Given the description of an element on the screen output the (x, y) to click on. 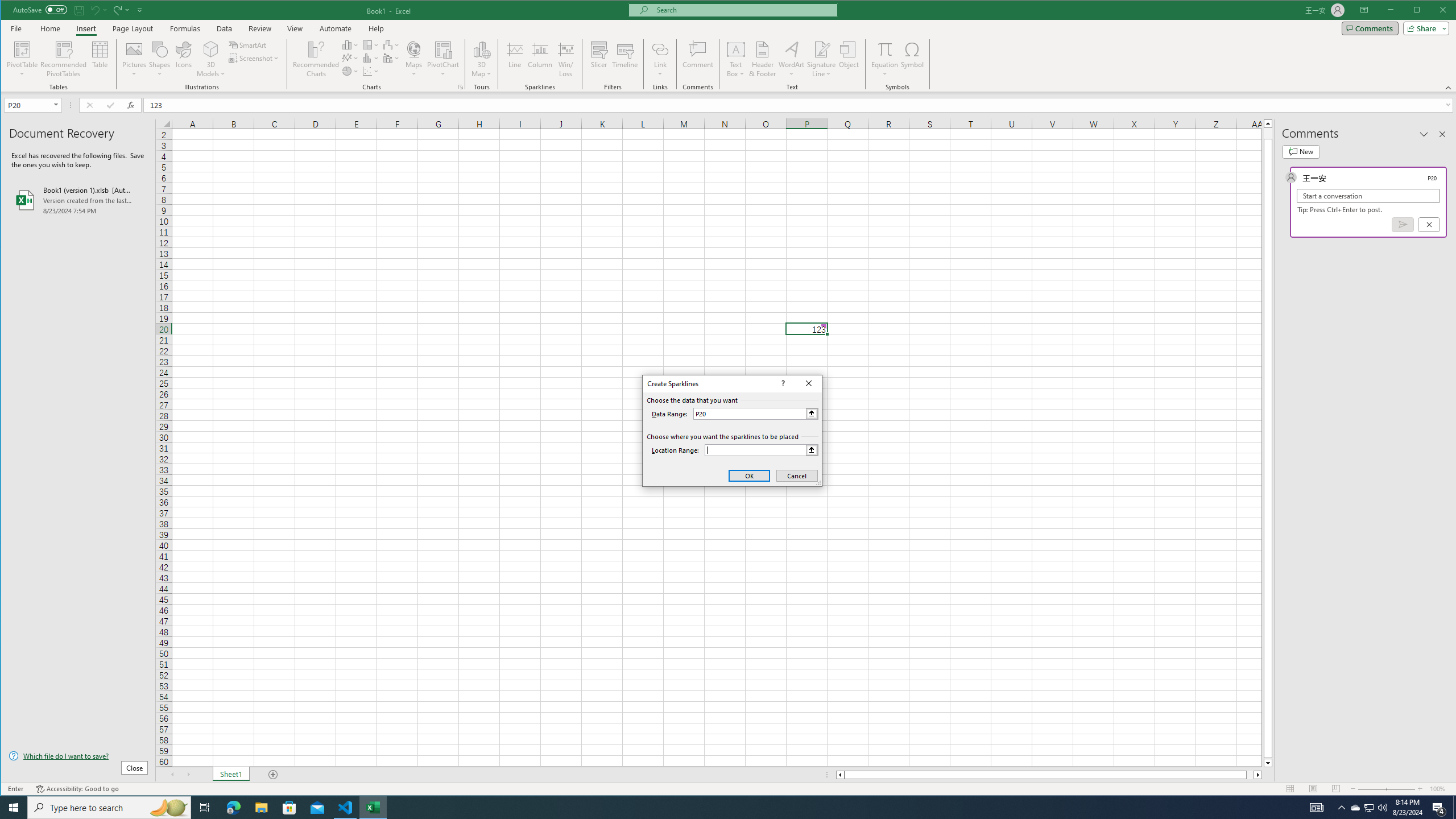
Recommended Charts (460, 86)
Ribbon Display Options (1364, 9)
Column (540, 59)
Table (100, 59)
PivotTable (22, 48)
Equation (884, 48)
Collapse the Ribbon (1448, 87)
Draw Horizontal Text Box (735, 48)
Q2790: 100% (1382, 807)
AutomationID: 4105 (1316, 807)
Save (79, 9)
Signature Line (821, 59)
Visual Studio Code - 1 running window (345, 807)
Data (224, 28)
